Given the description of an element on the screen output the (x, y) to click on. 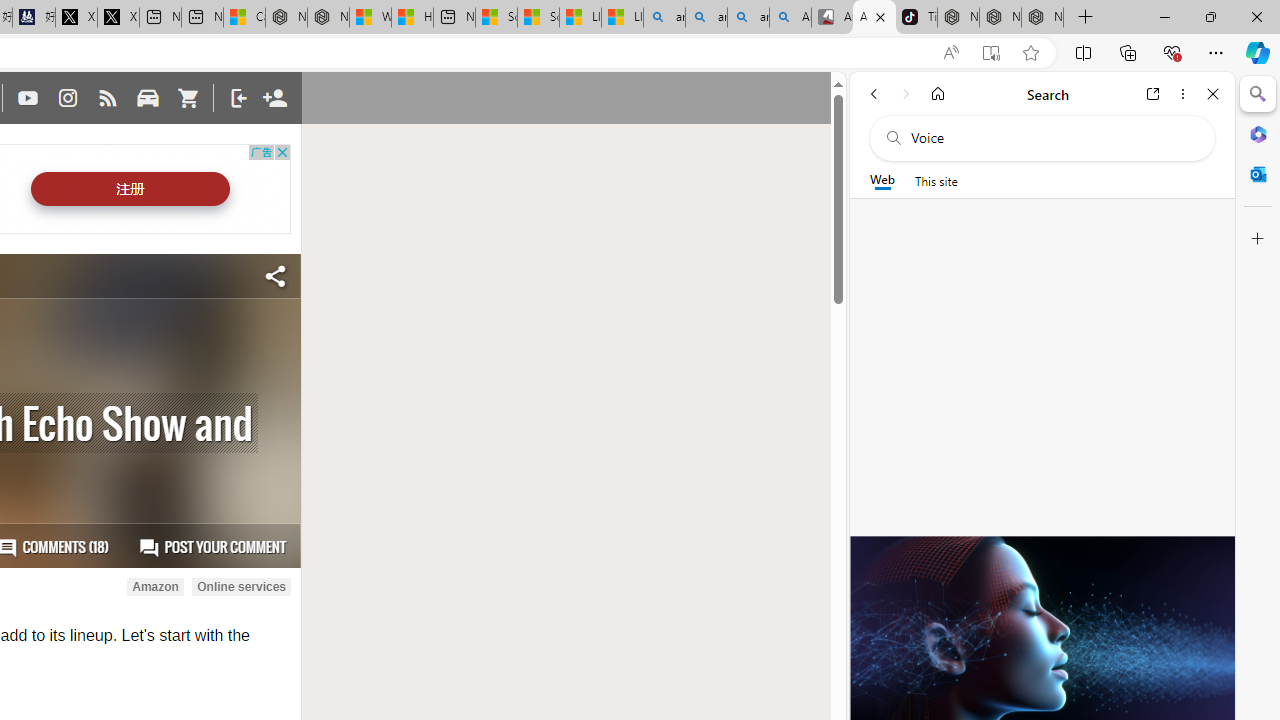
Nordace - Best Sellers (958, 17)
Microsoft 365 (1258, 133)
Open link in new tab (1153, 93)
Nordace Siena Pro 15 Backpack (1000, 17)
Online services (241, 587)
